Given the description of an element on the screen output the (x, y) to click on. 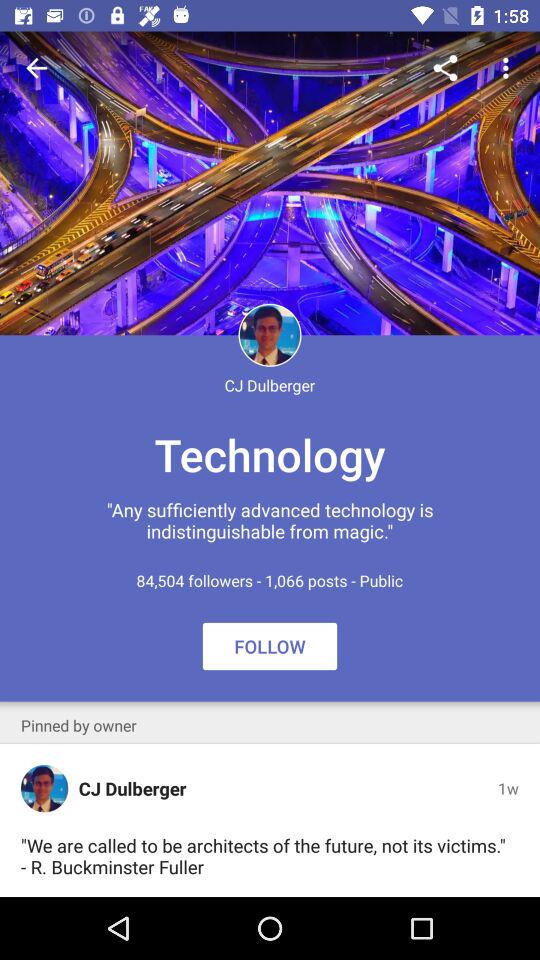
turn on icon above the technology item (444, 67)
